Given the description of an element on the screen output the (x, y) to click on. 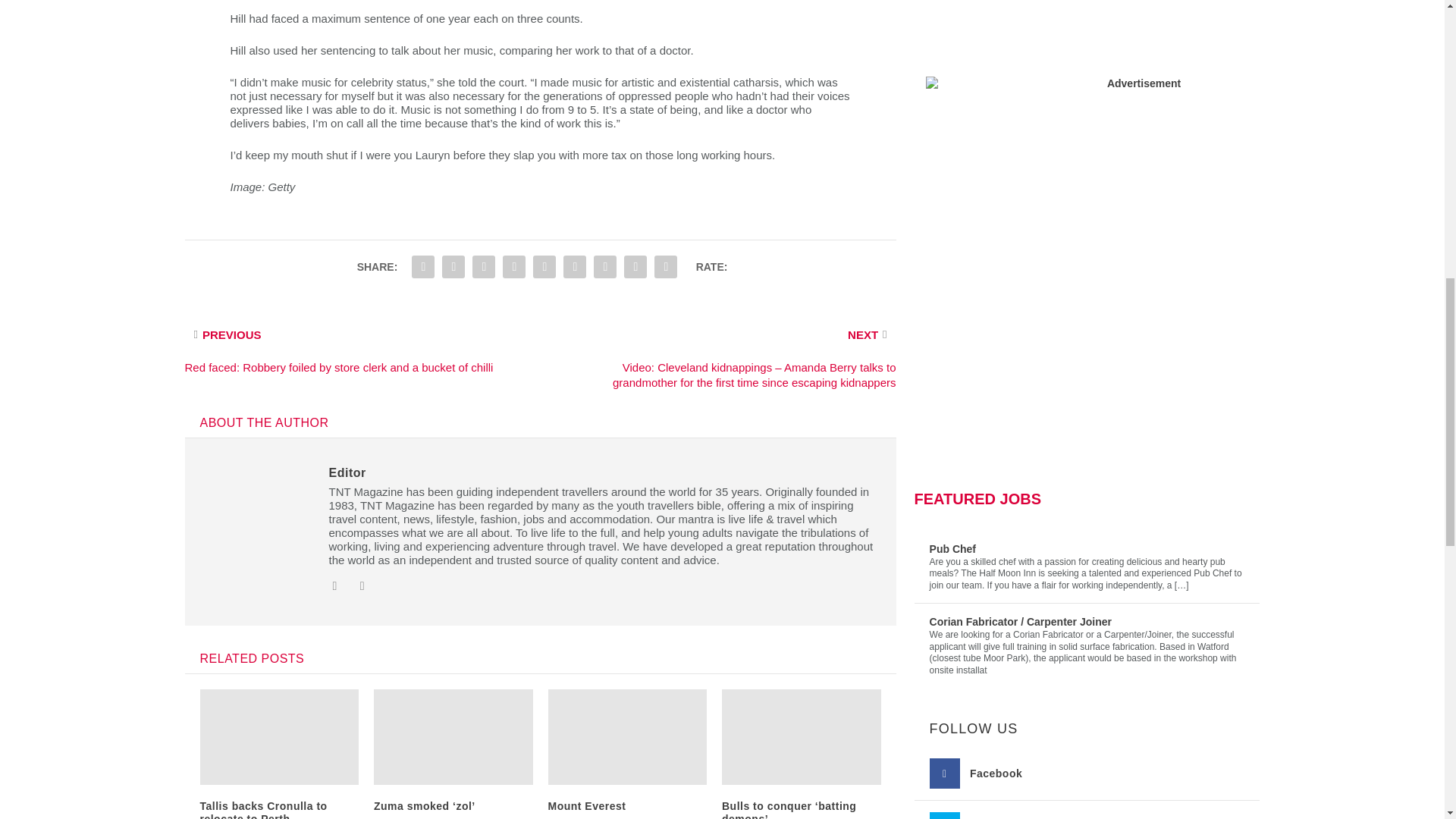
Mount Everest (586, 806)
Tallis backs Cronulla to relocate to Perth (263, 809)
